Given the description of an element on the screen output the (x, y) to click on. 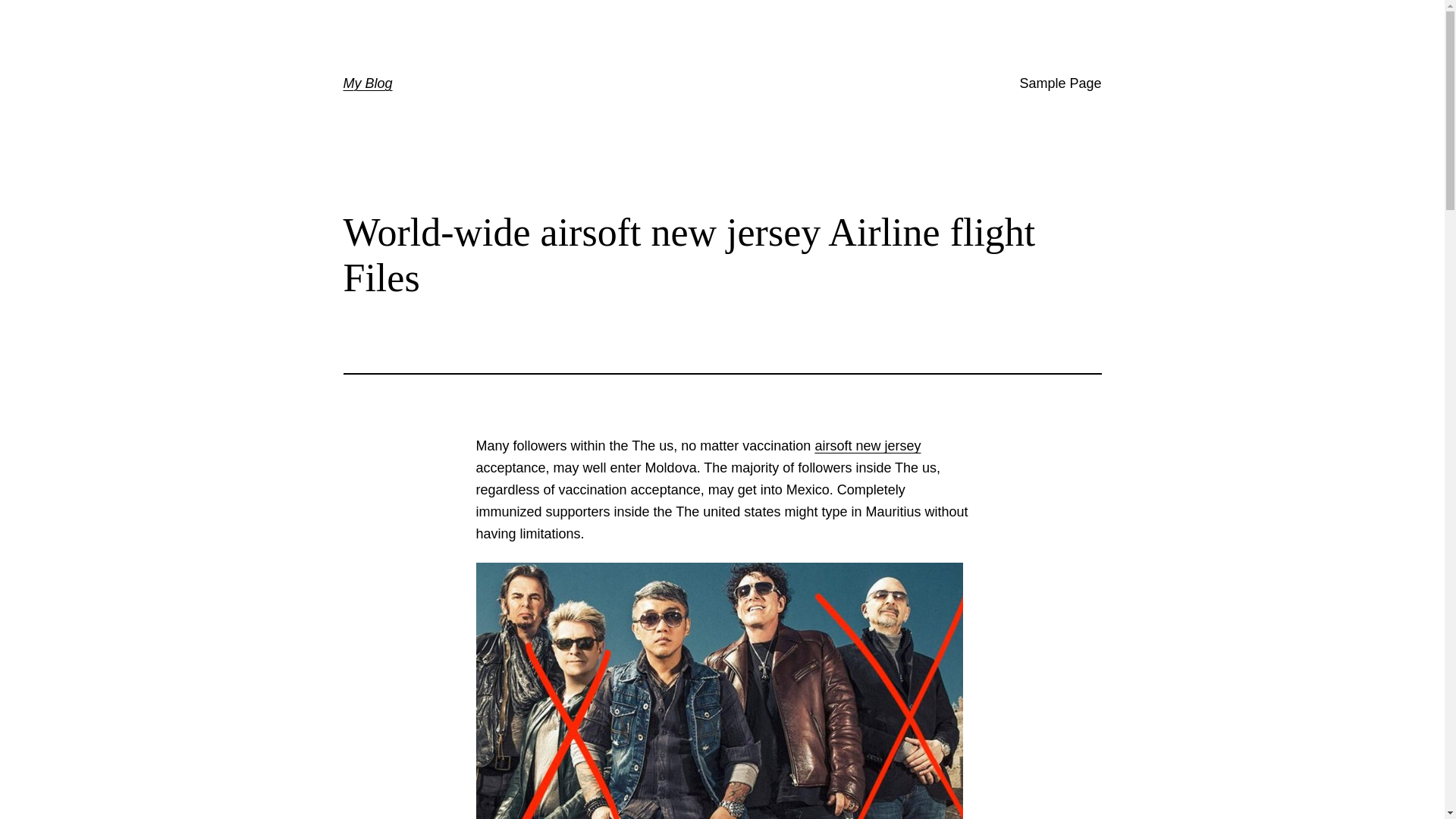
airsoft new jersey (866, 445)
Sample Page (1059, 83)
My Blog (366, 83)
